Given the description of an element on the screen output the (x, y) to click on. 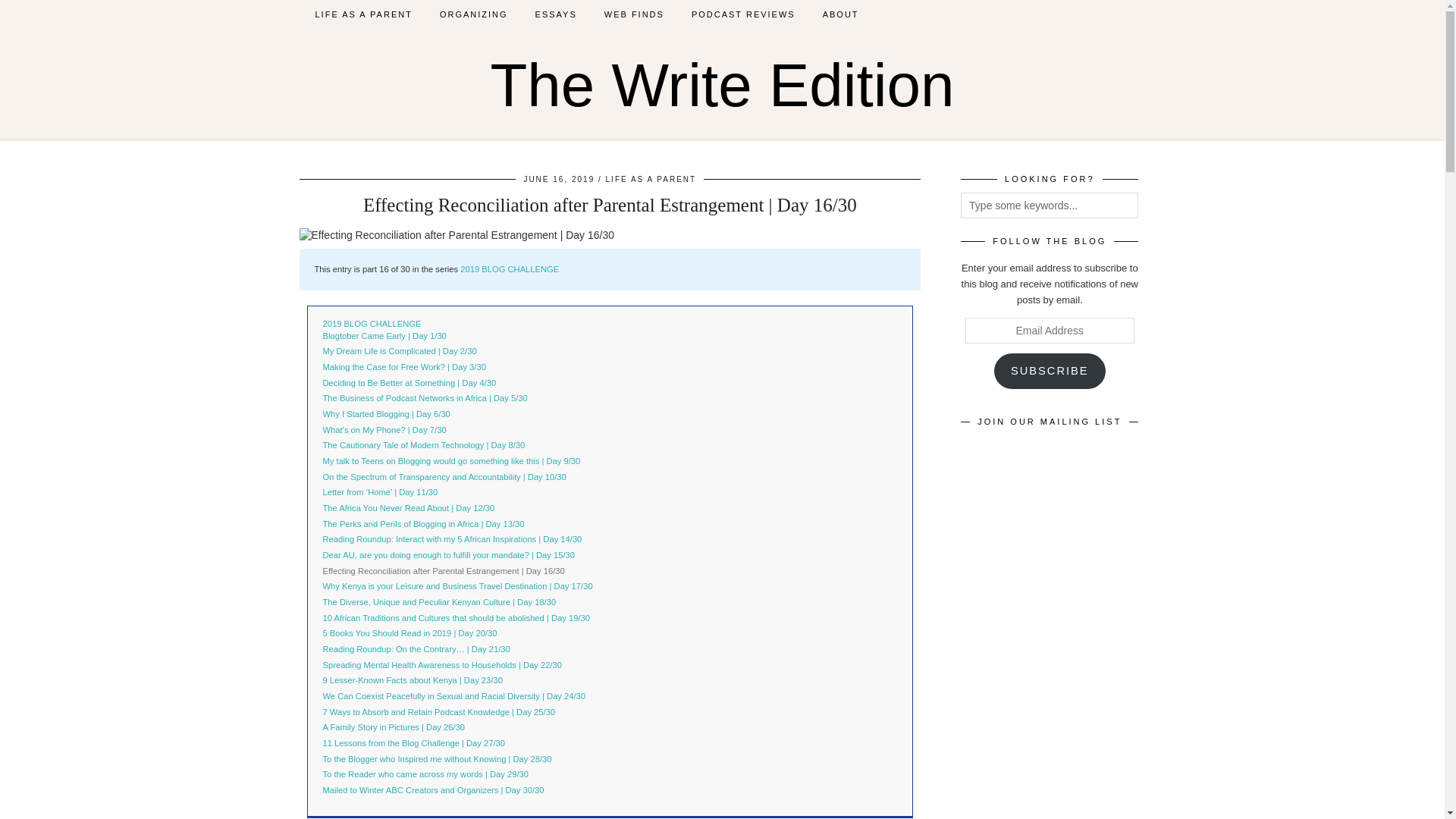
2019 BLOG CHALLENGE (509, 268)
LIFE AS A PARENT (651, 179)
LIFE AS A PARENT (363, 14)
WEB FINDS (634, 14)
PODCAST REVIEWS (743, 14)
ABOUT (840, 14)
2019 BLOG CHALLENGE (509, 268)
The Write Edition (721, 84)
2019 BLOG CHALLENGE (372, 323)
2019 BLOG CHALLENGE (372, 323)
